Given the description of an element on the screen output the (x, y) to click on. 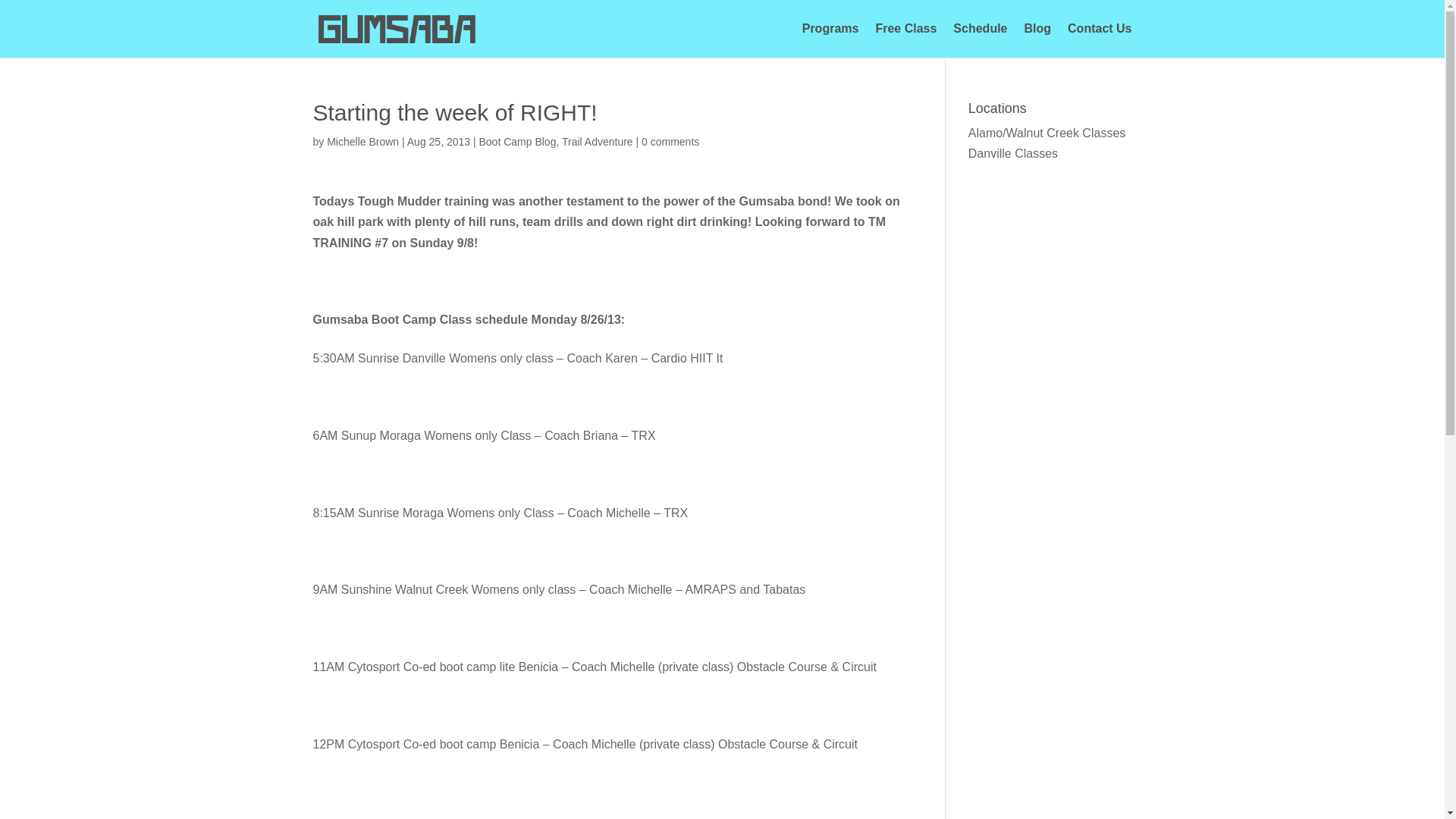
Posts by Michelle Brown (362, 141)
Trail Adventure (597, 141)
Michelle Brown (362, 141)
Danville Classes (1013, 153)
Free Class (905, 40)
Programs (830, 40)
Boot Camp Blog (517, 141)
Contact Us (1099, 40)
Schedule (980, 40)
0 comments (670, 141)
